Given the description of an element on the screen output the (x, y) to click on. 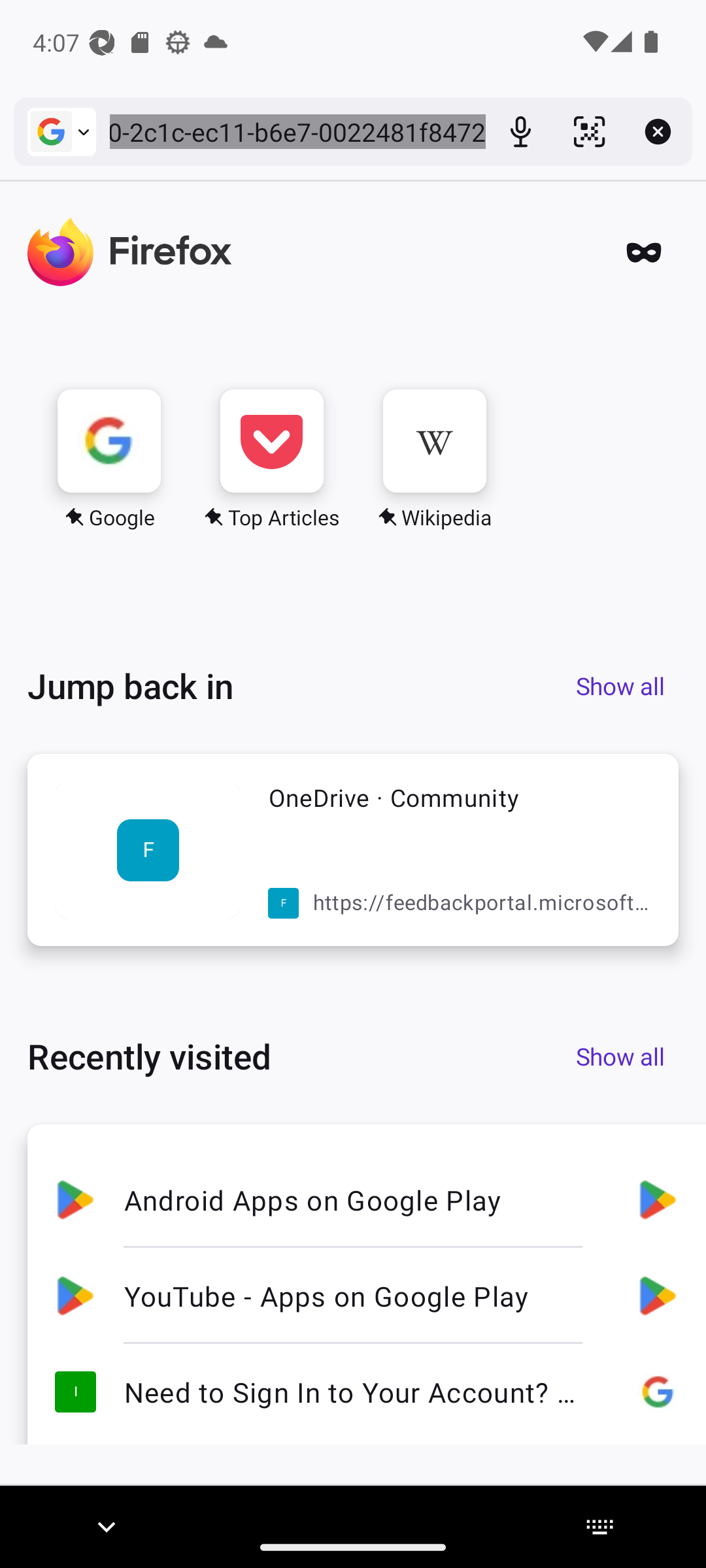
Google (61, 131)
Voice search (520, 131)
Scan (588, 131)
Clear (657, 131)
